Given the description of an element on the screen output the (x, y) to click on. 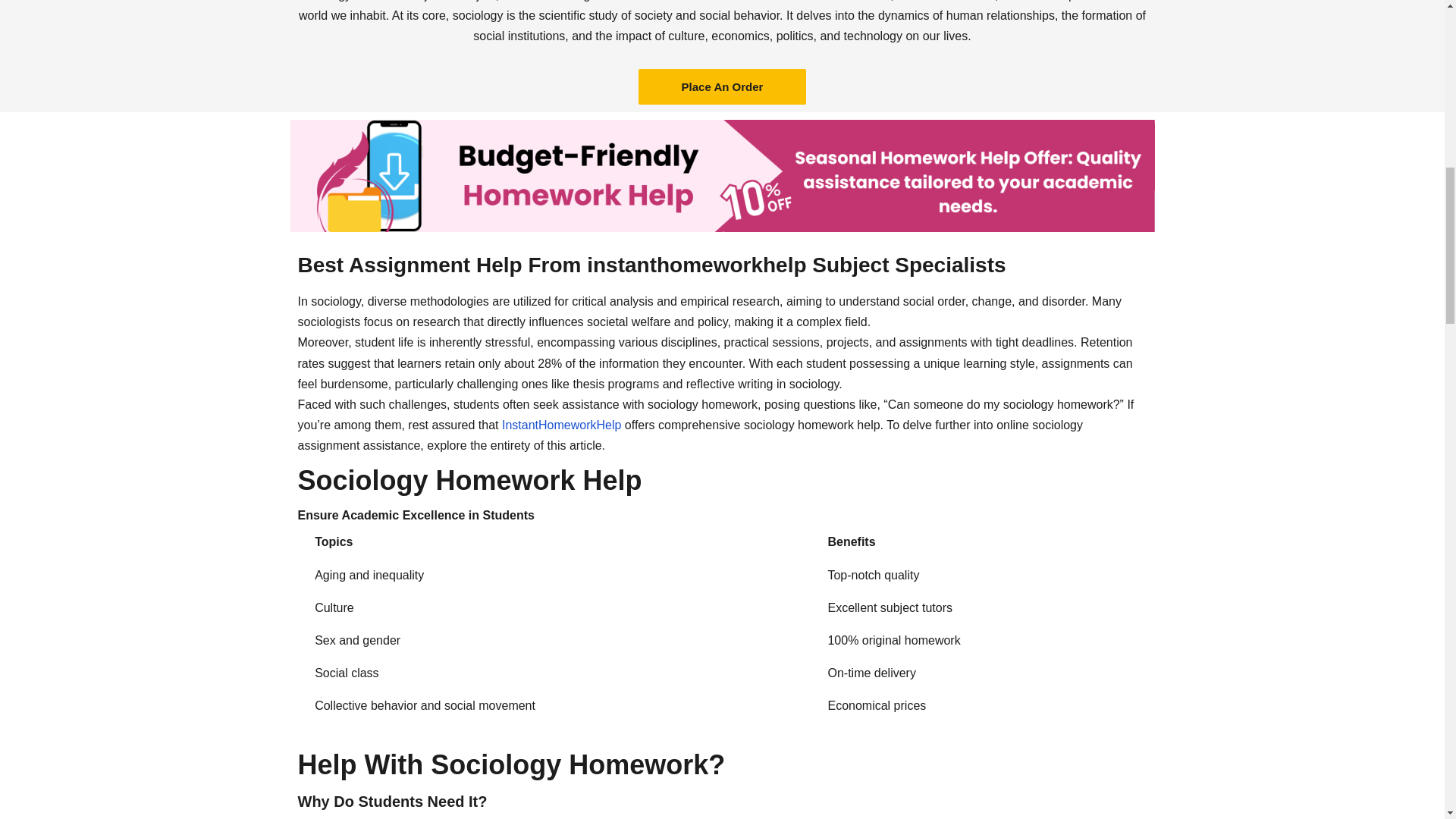
Place An Order (722, 86)
InstantHomeworkHelp (561, 424)
